Given the description of an element on the screen output the (x, y) to click on. 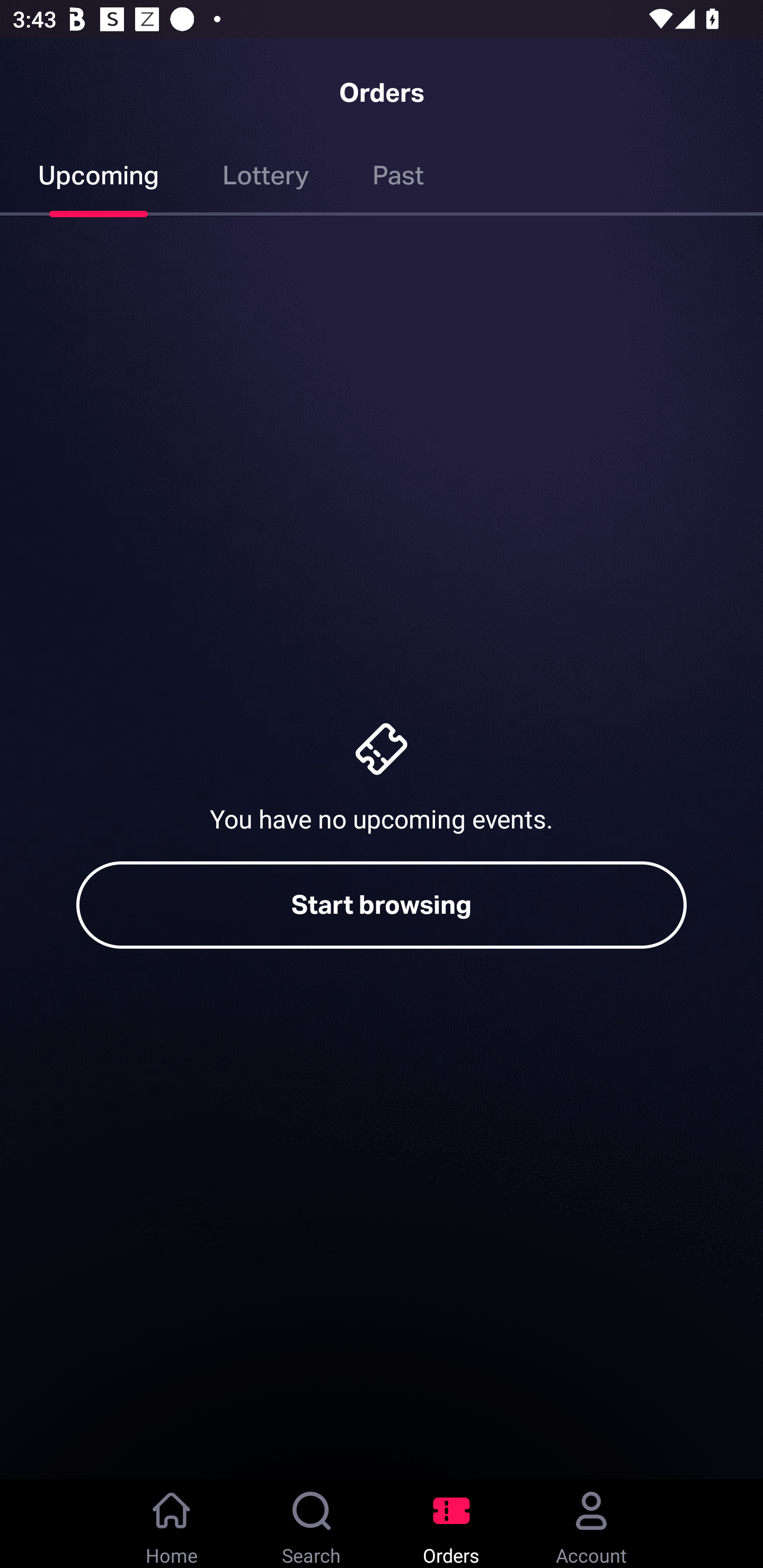
Lottery (265, 179)
Past (398, 179)
Start browsing (381, 904)
Home (171, 1523)
Search (311, 1523)
Account (591, 1523)
